Given the description of an element on the screen output the (x, y) to click on. 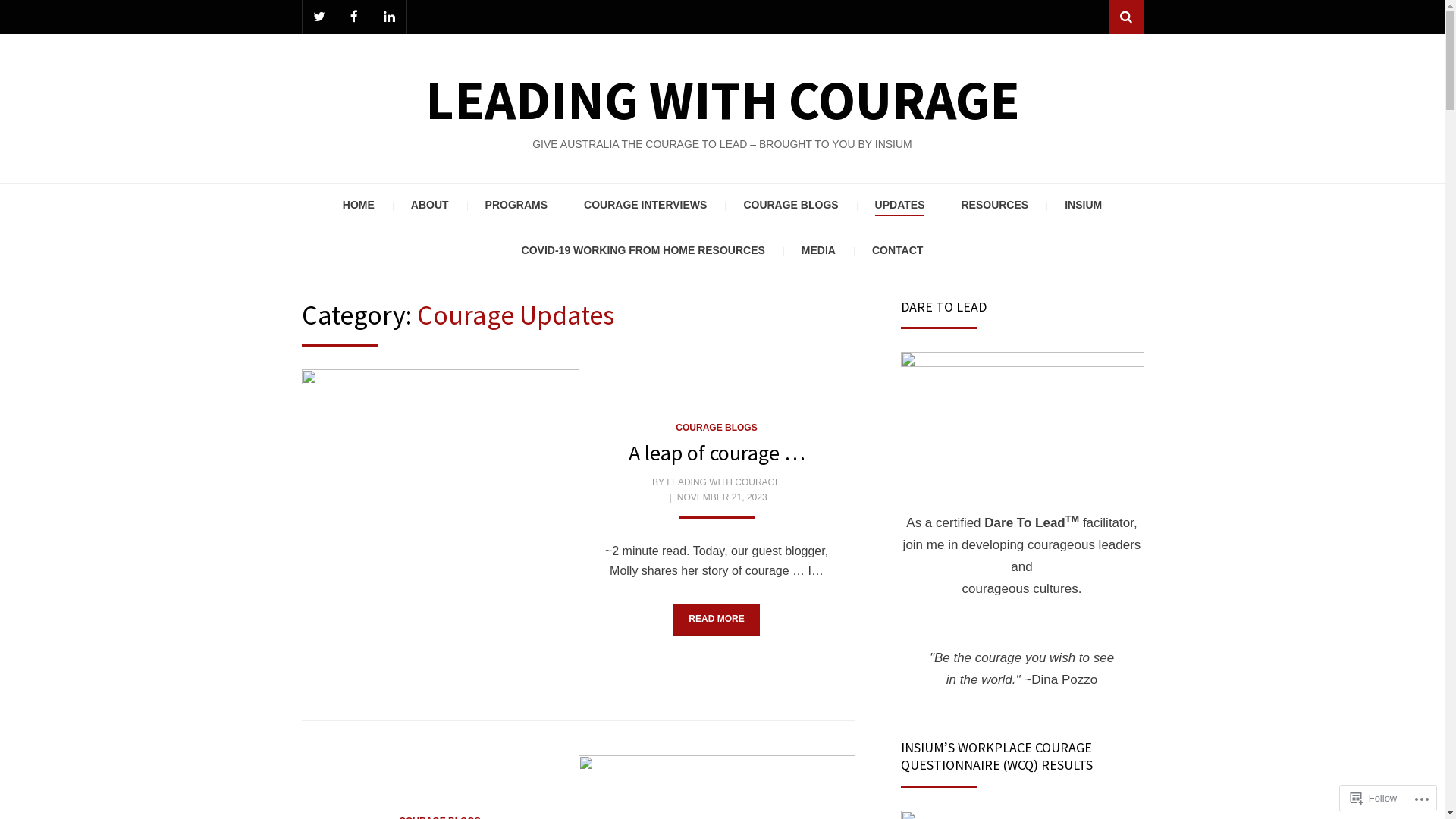
NOVEMBER 21, 2023 Element type: text (720, 497)
Dina Pozzo Element type: text (1064, 679)
UPDATES Element type: text (899, 206)
COVID-19 WORKING FROM HOME RESOURCES Element type: text (643, 251)
Facebook Element type: text (353, 17)
HOME Element type: text (358, 206)
PROGRAMS Element type: text (516, 206)
INSIUM Element type: text (1083, 206)
CONTACT Element type: text (897, 251)
Follow Element type: text (1373, 797)
Dare To Lead Element type: hover (1021, 414)
READ MORE Element type: text (716, 619)
RESOURCES Element type: text (994, 206)
COURAGE INTERVIEWS Element type: text (644, 206)
LinkedIn Element type: text (388, 17)
COURAGE BLOGS Element type: text (715, 427)
LEADING WITH COURAGE Element type: text (721, 99)
Twitter Element type: text (318, 17)
LEADING WITH COURAGE Element type: text (723, 481)
Dare To LeadTM Element type: text (1031, 522)
ABOUT Element type: text (429, 206)
Search Element type: hover (1125, 17)
COURAGE BLOGS Element type: text (790, 206)
MEDIA Element type: text (818, 251)
